Given the description of an element on the screen output the (x, y) to click on. 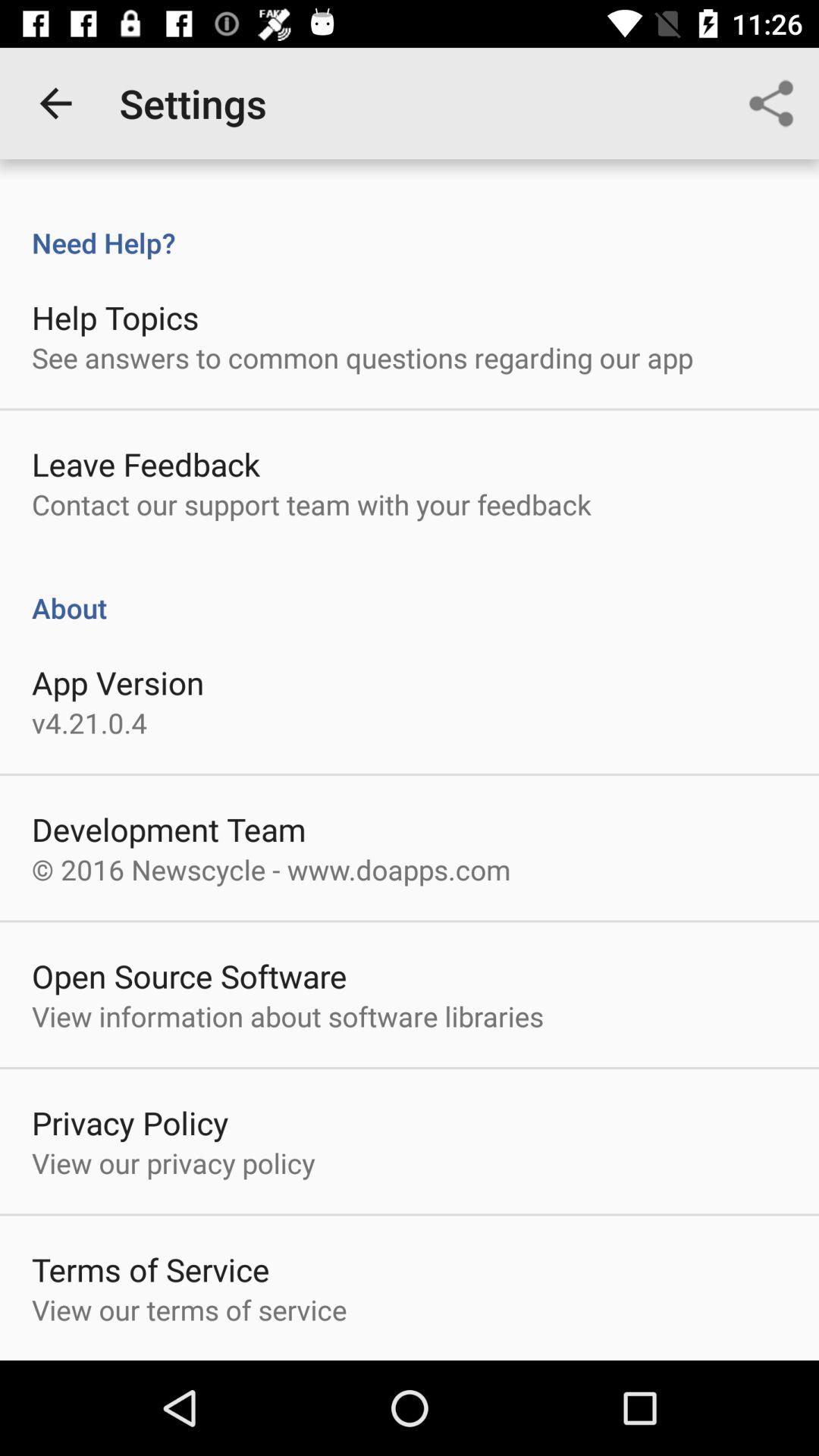
tap the icon below the about icon (117, 682)
